Given the description of an element on the screen output the (x, y) to click on. 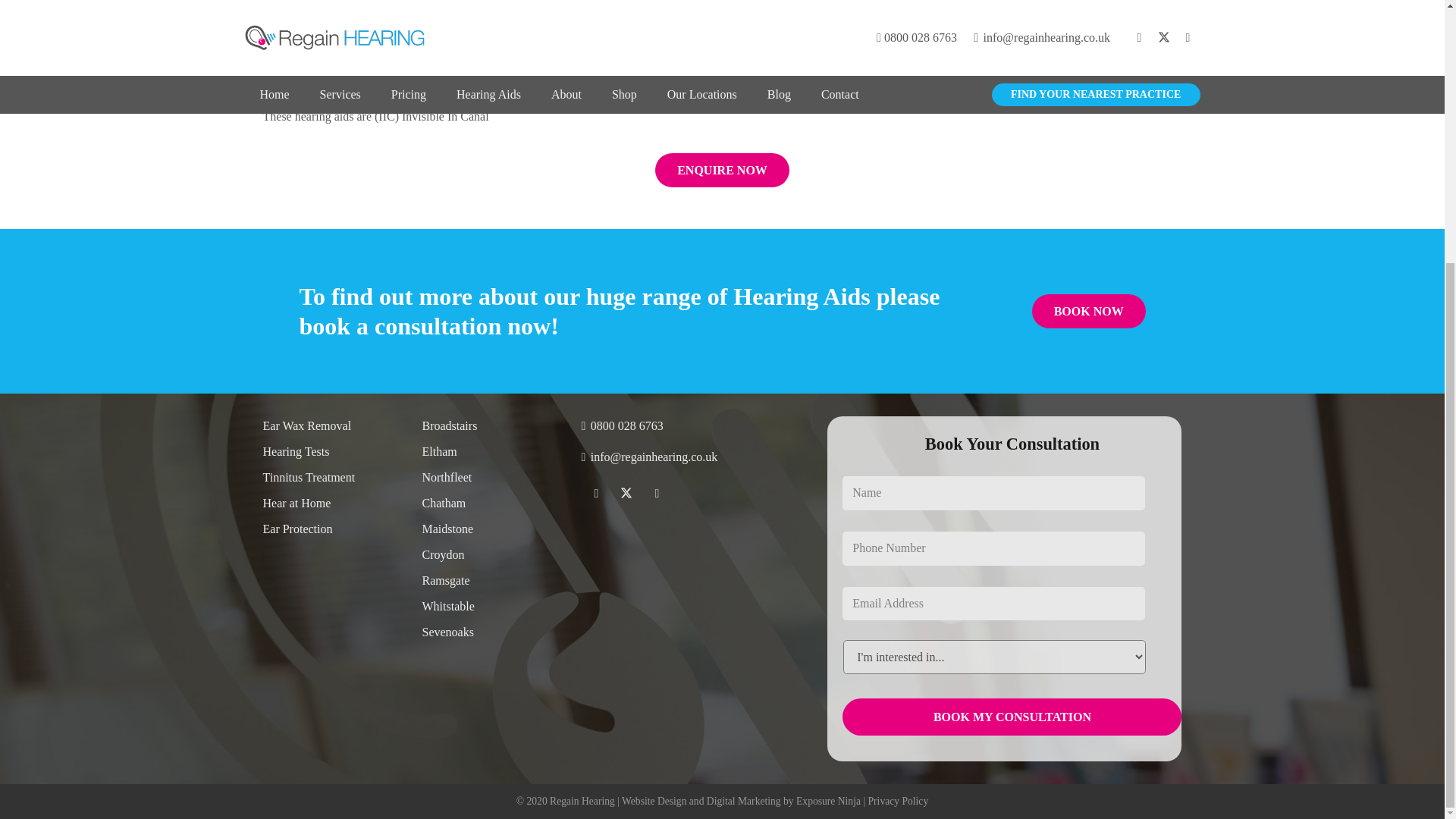
YouTube (656, 493)
BOOK MY CONSULTATION (1011, 716)
Twitter (626, 493)
Facebook (595, 493)
